Given the description of an element on the screen output the (x, y) to click on. 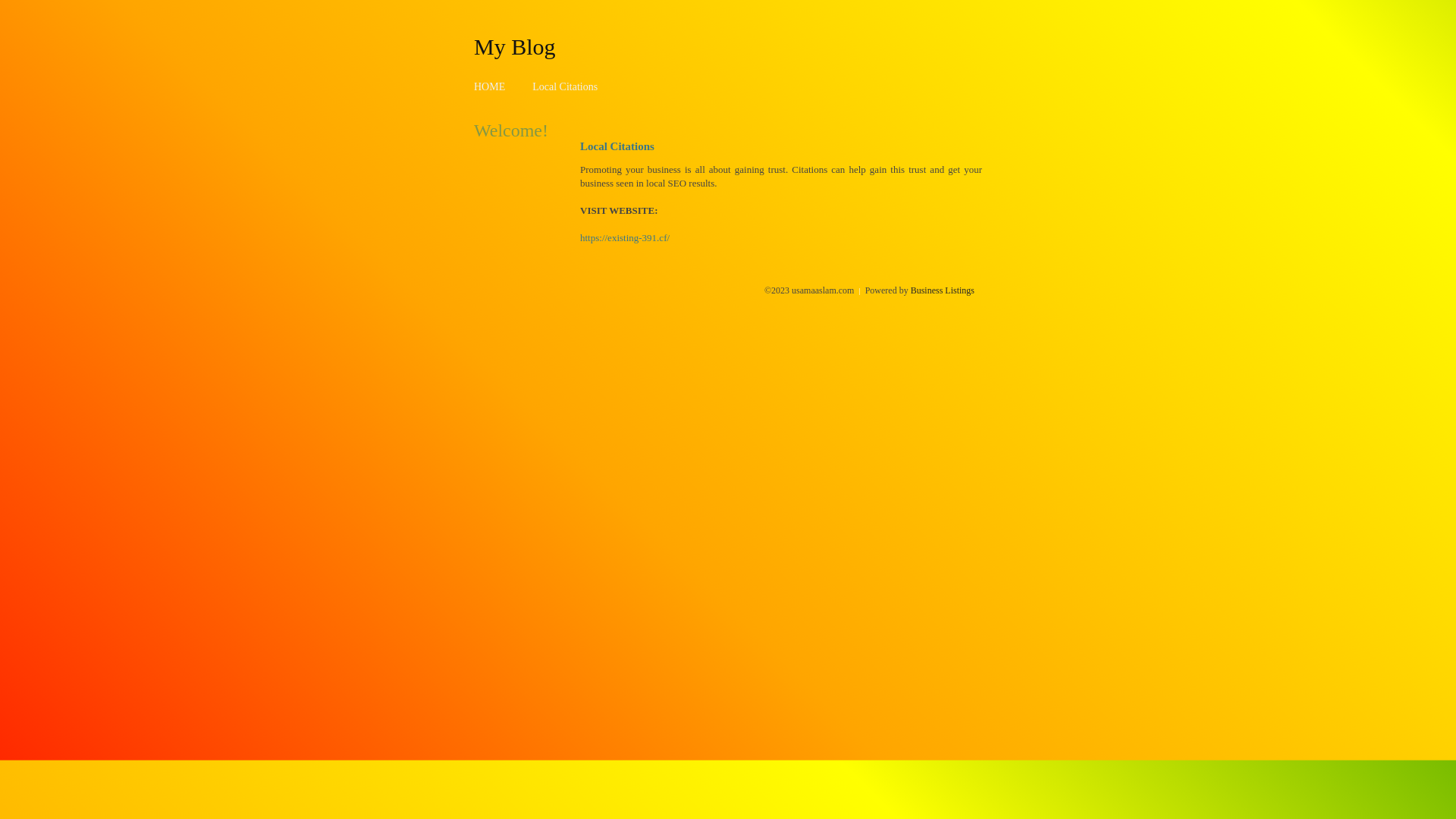
Local Citations Element type: text (564, 86)
HOME Element type: text (489, 86)
My Blog Element type: text (514, 46)
Business Listings Element type: text (942, 290)
https://existing-391.cf/ Element type: text (624, 237)
